Given the description of an element on the screen output the (x, y) to click on. 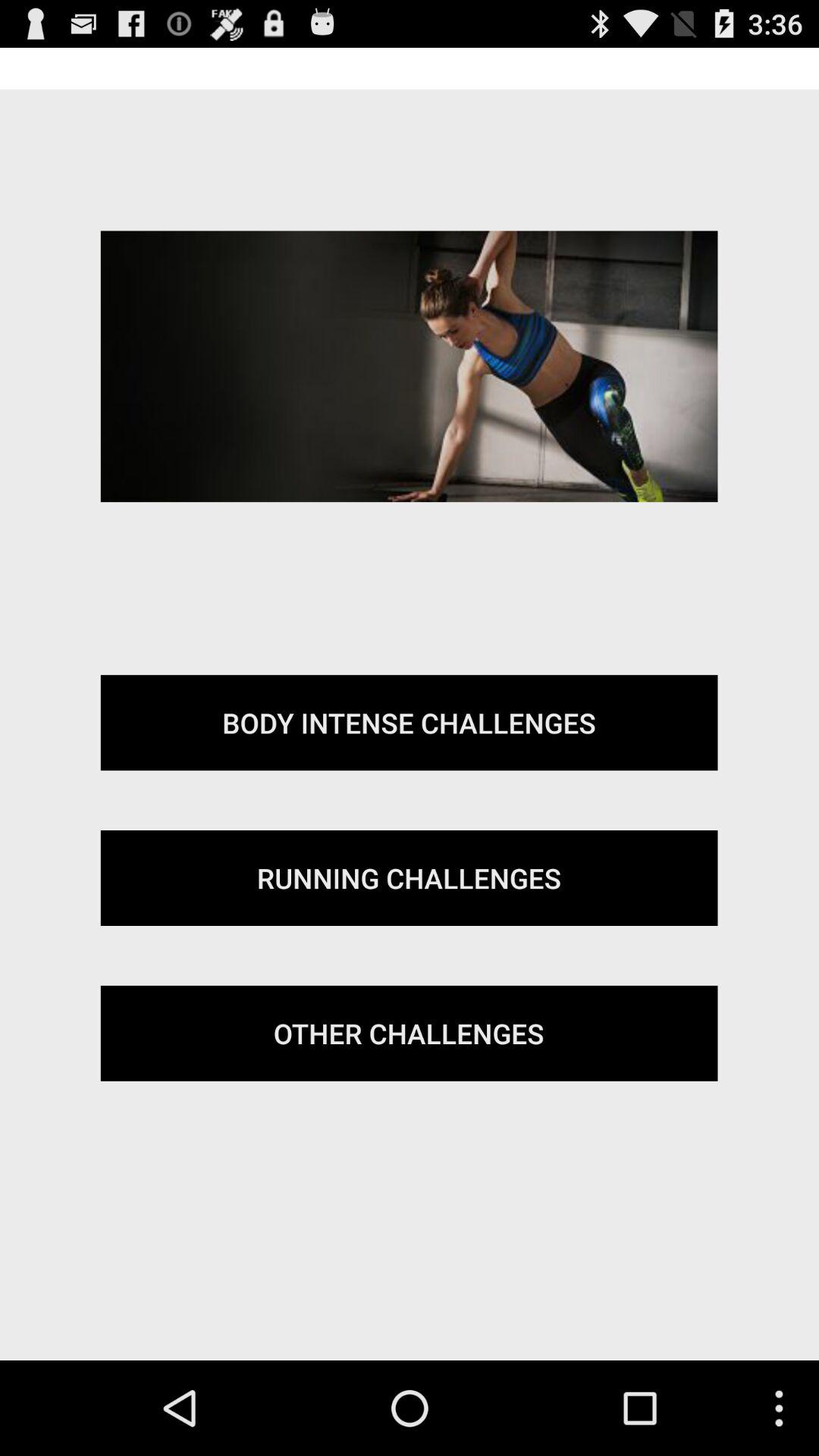
tap the button above the running challenges (408, 722)
